Given the description of an element on the screen output the (x, y) to click on. 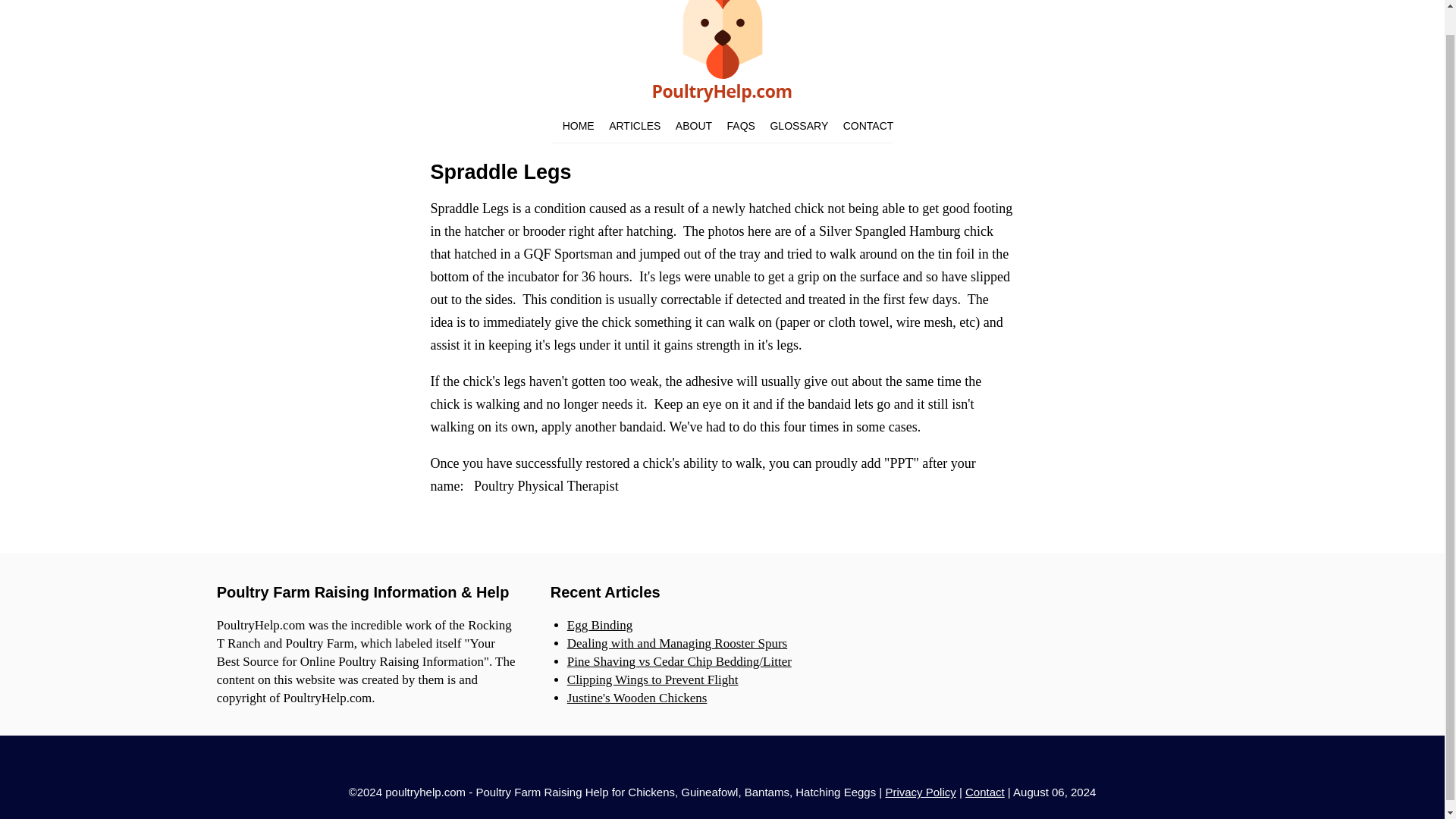
HOME (578, 125)
Egg Binding (599, 625)
Privacy Policy (920, 791)
CONTACT (868, 125)
Justine's Wooden Chickens (637, 698)
ABOUT (693, 125)
GLOSSARY (799, 125)
Dealing with and Managing Rooster Spurs (677, 643)
Clipping Wings to Prevent Flight (652, 679)
ARTICLES (634, 125)
Contact (984, 791)
